Given the description of an element on the screen output the (x, y) to click on. 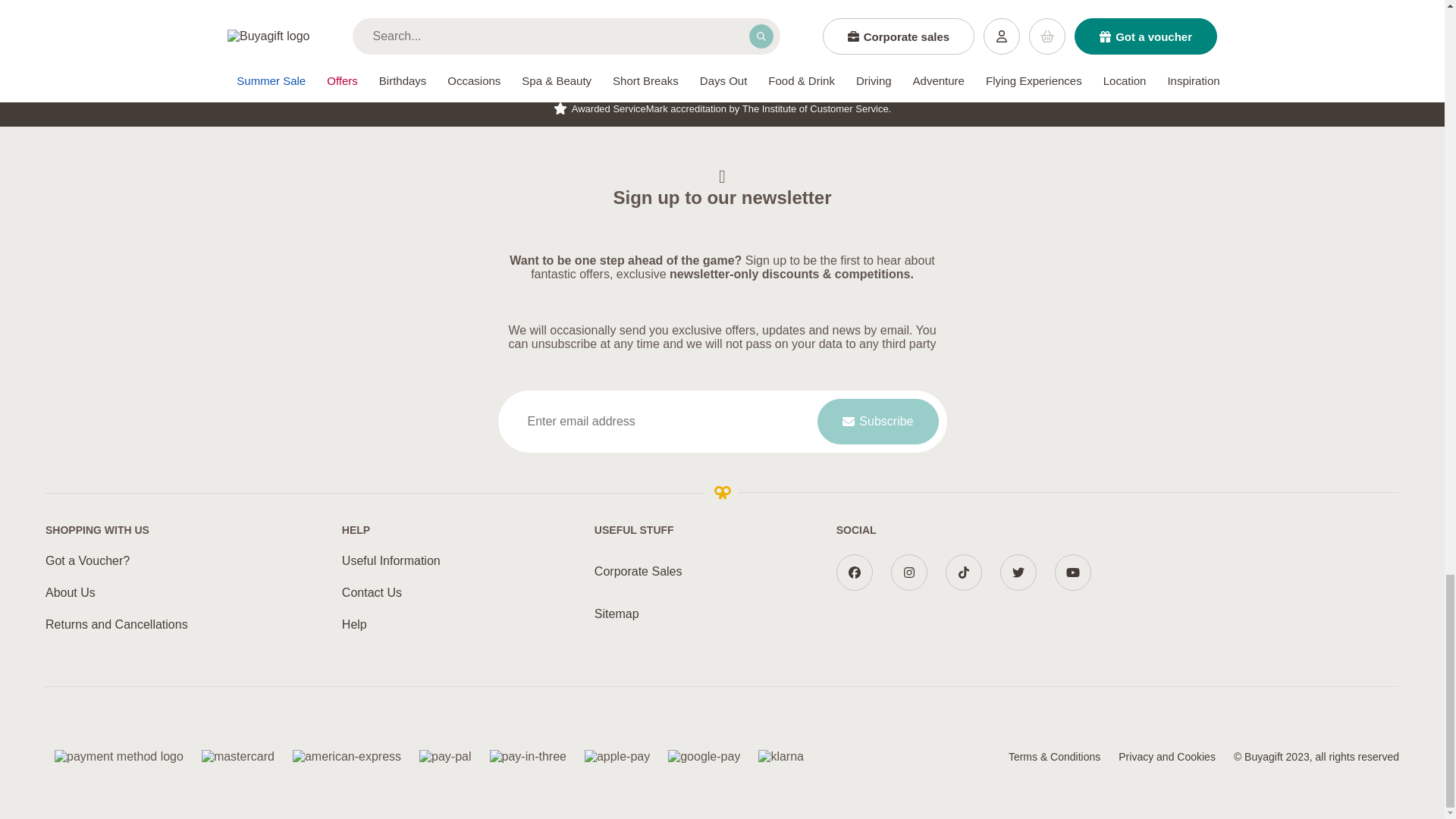
tiktok (962, 572)
facebook (853, 572)
instagram (909, 572)
youtube (1072, 572)
twitter (1018, 572)
